Given the description of an element on the screen output the (x, y) to click on. 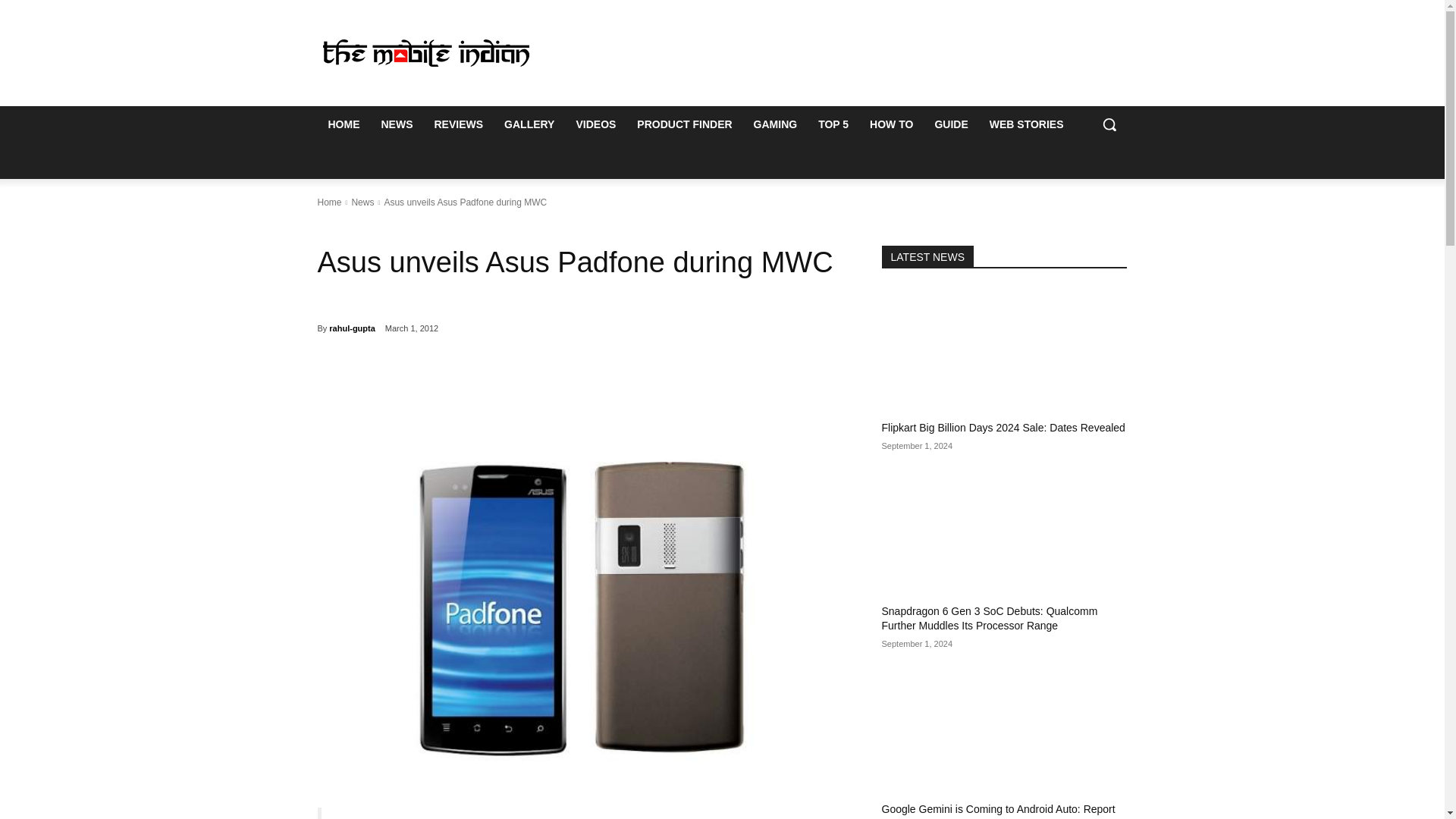
WEB STORIES (1026, 124)
GAMING (775, 124)
NEWS (396, 124)
Home (328, 202)
GUIDE (950, 124)
VIDEOS (595, 124)
HOME (343, 124)
TOP 5 (833, 124)
News (362, 202)
HOW TO (891, 124)
